Given the description of an element on the screen output the (x, y) to click on. 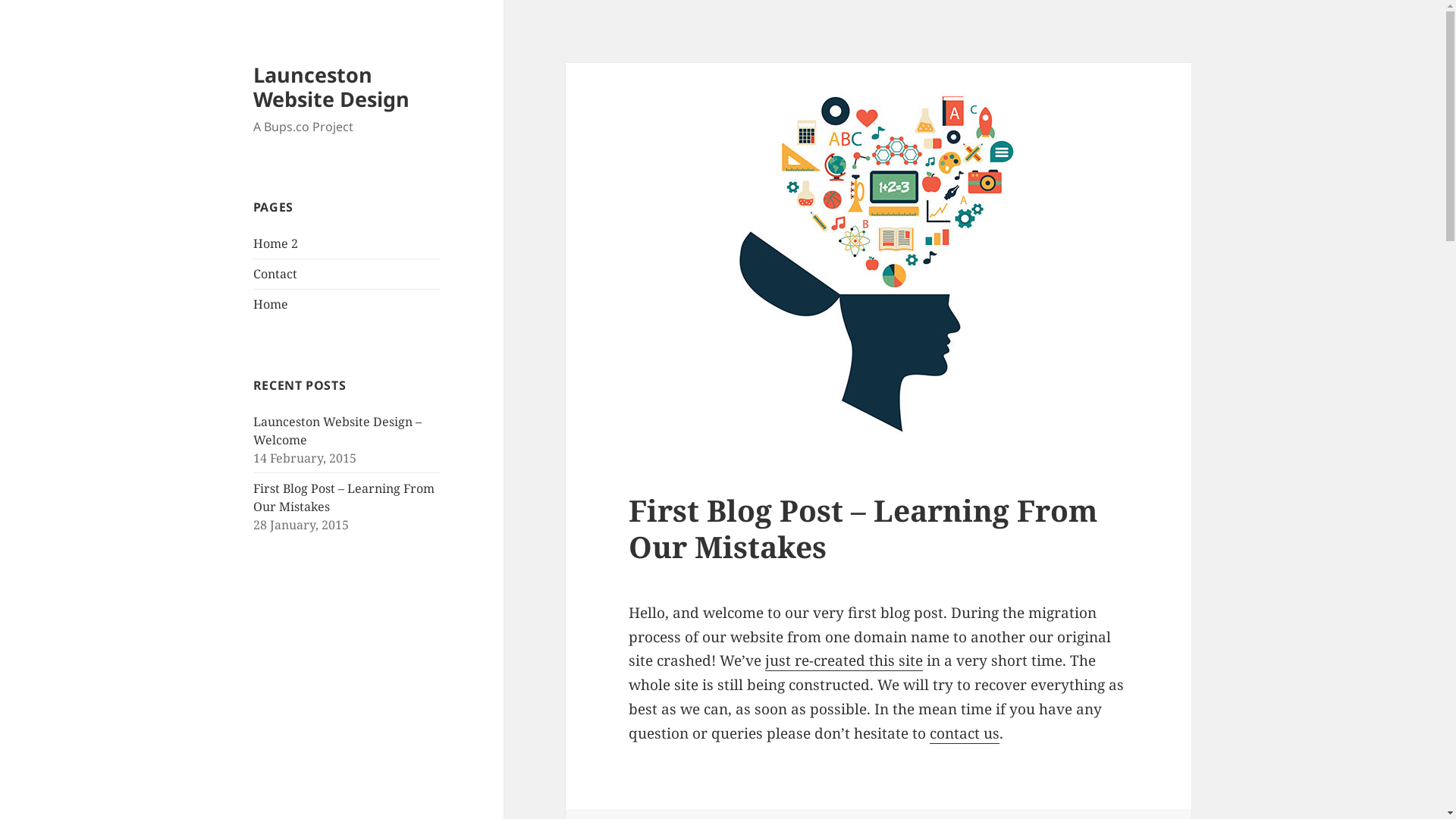
just re-created this site Element type: text (843, 660)
Launceston Website Design Element type: text (331, 86)
contact us Element type: text (964, 733)
Contact Element type: text (275, 273)
Home 2 Element type: text (275, 243)
Home Element type: text (270, 303)
